Given the description of an element on the screen output the (x, y) to click on. 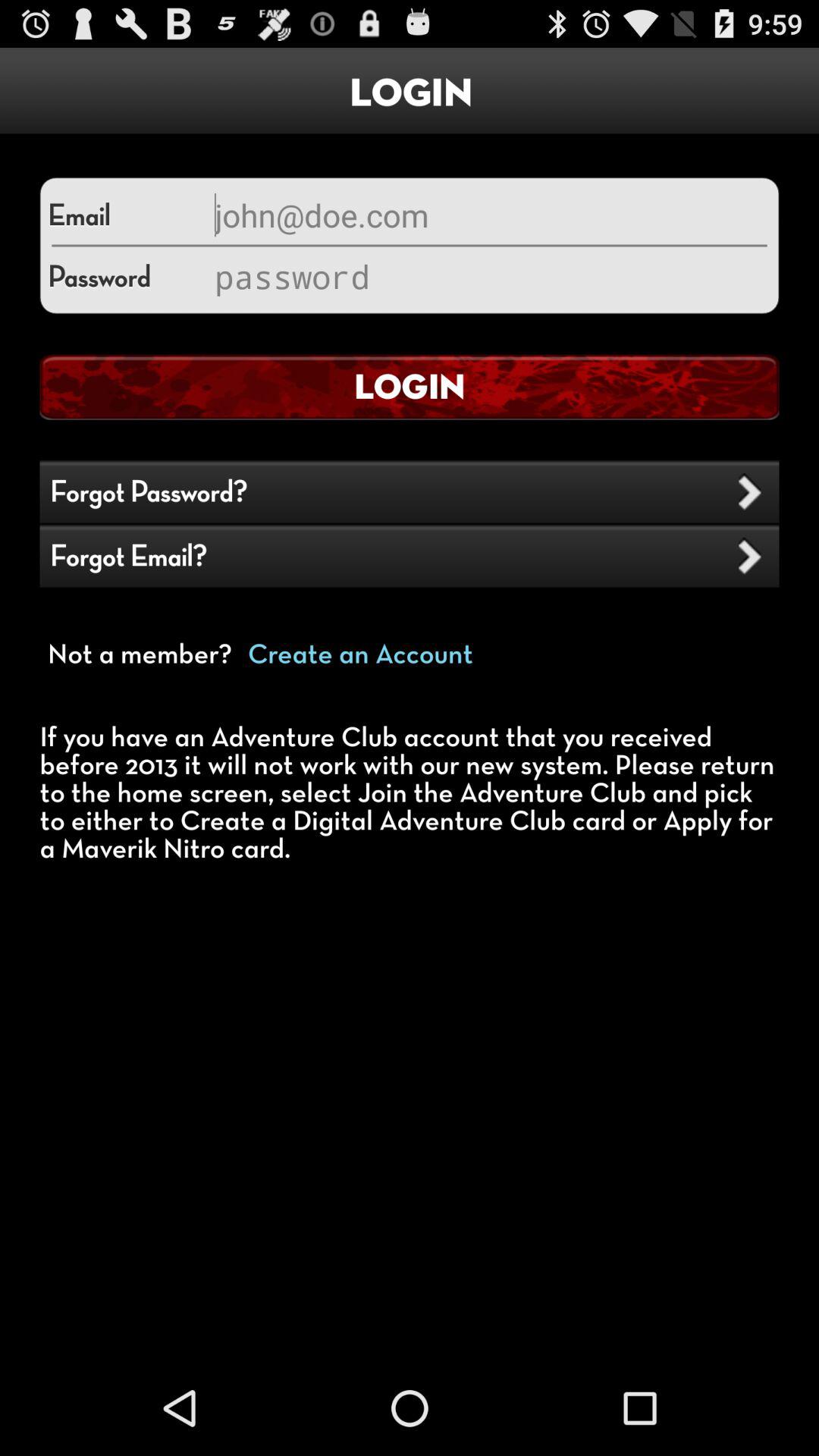
go to password (489, 275)
